Given the description of an element on the screen output the (x, y) to click on. 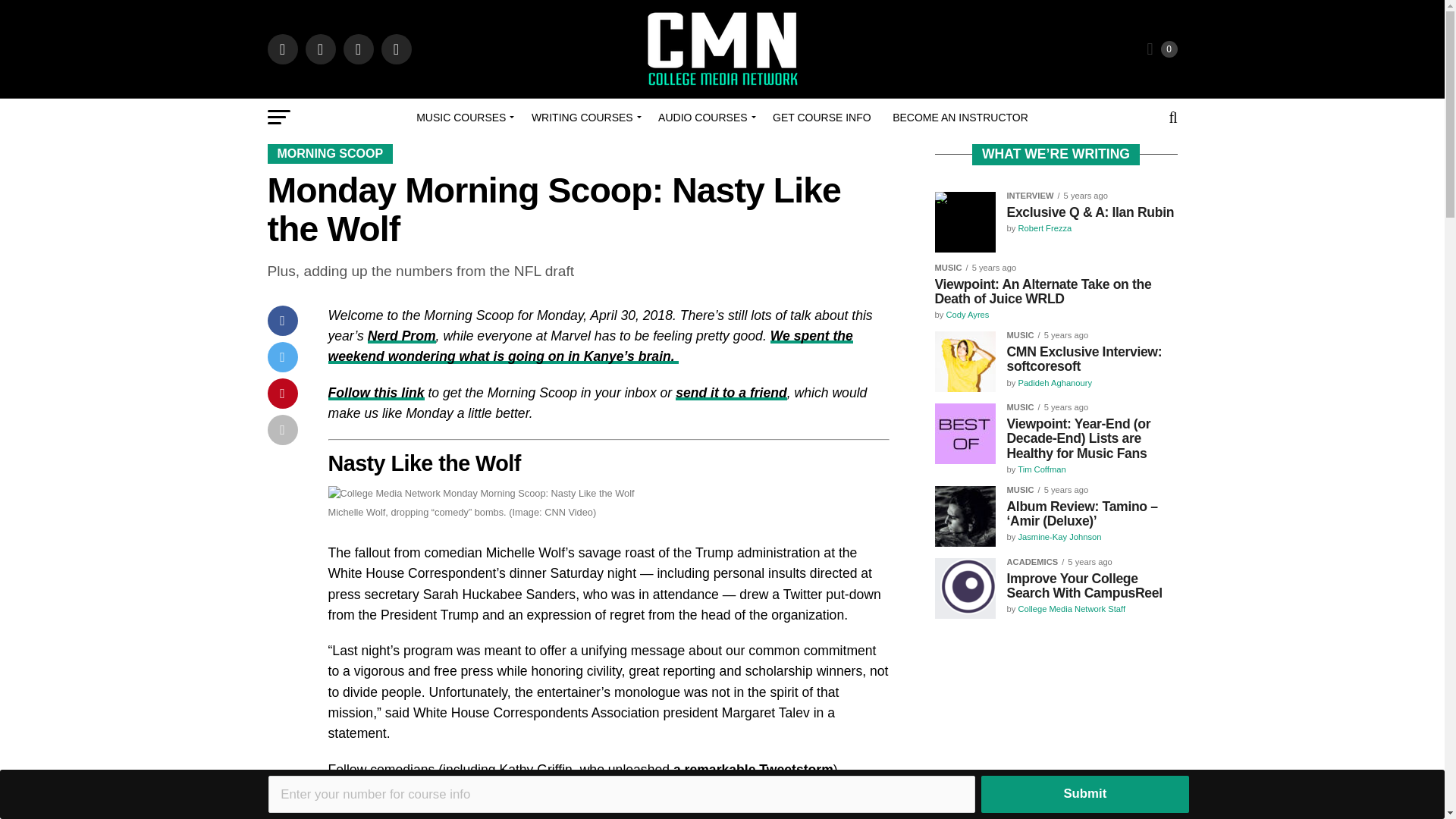
send it to a friend (731, 392)
a remarkable Tweetstorm (752, 769)
AUDIO COURSES (704, 117)
MUSIC COURSES (462, 117)
WRITING COURSES (584, 117)
Posts by Cody Ayres (966, 314)
Posts by College Media Network Staff (1071, 608)
GET COURSE INFO (821, 117)
Posts by Jasmine-Kay Johnson (1058, 536)
Posts by Tim Coffman (1041, 469)
